Given the description of an element on the screen output the (x, y) to click on. 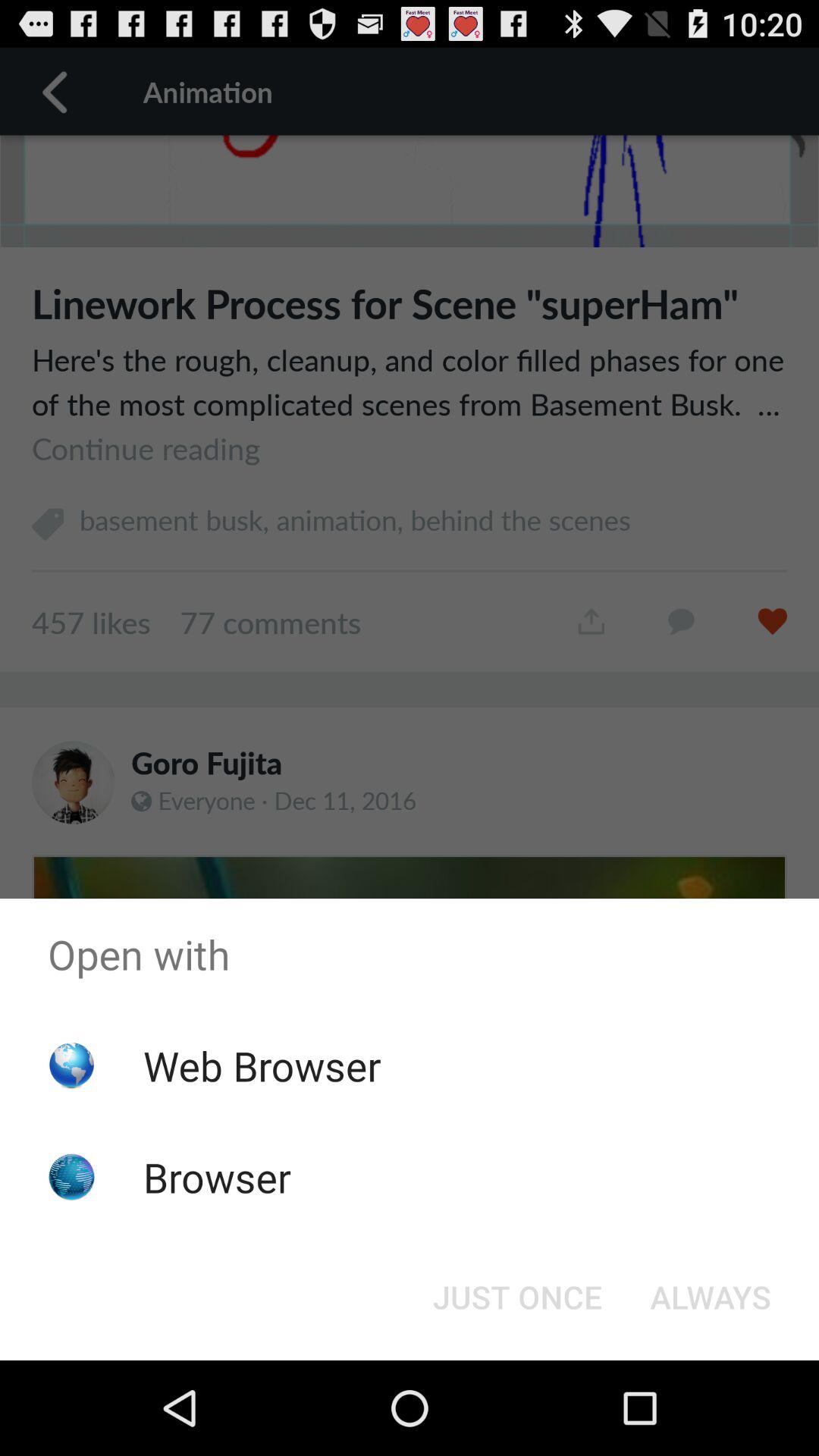
turn off button next to the always button (517, 1296)
